Given the description of an element on the screen output the (x, y) to click on. 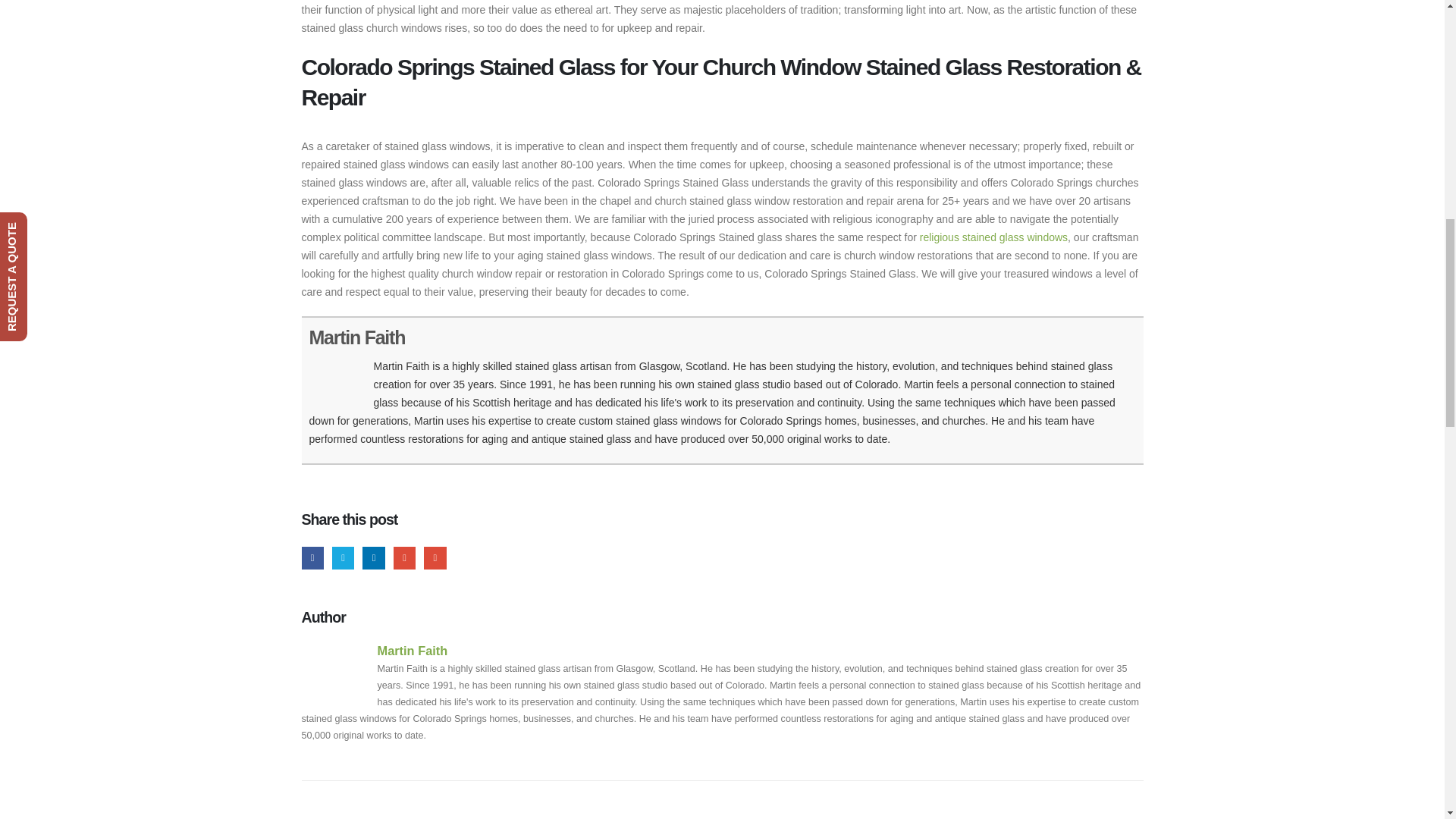
Posts by Martin Faith (412, 650)
All posts by Martin Faith (357, 337)
